Given the description of an element on the screen output the (x, y) to click on. 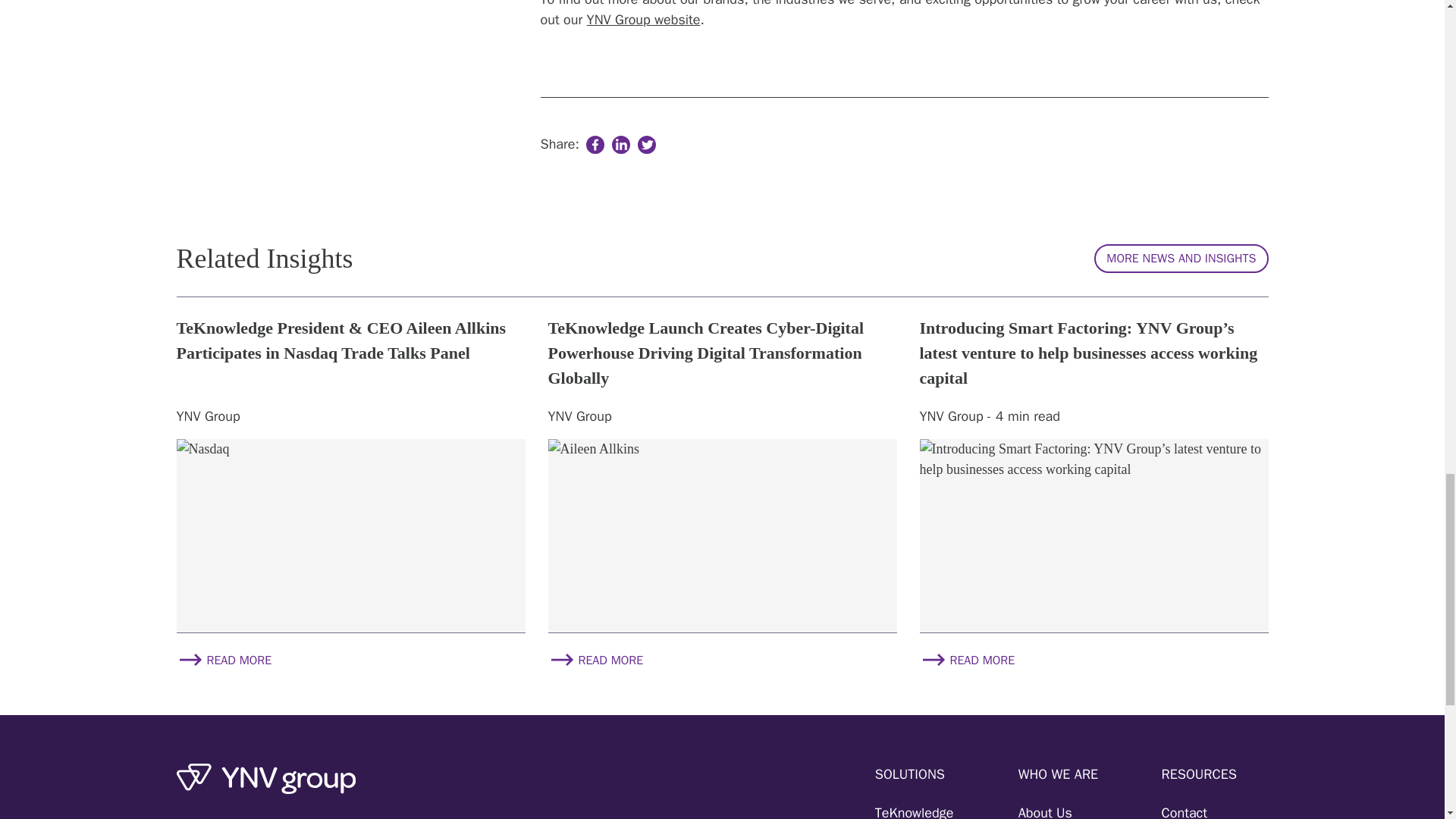
YNV Group website (643, 19)
MORE NEWS AND INSIGHTS (1181, 258)
TeKnowledge (914, 811)
